Given the description of an element on the screen output the (x, y) to click on. 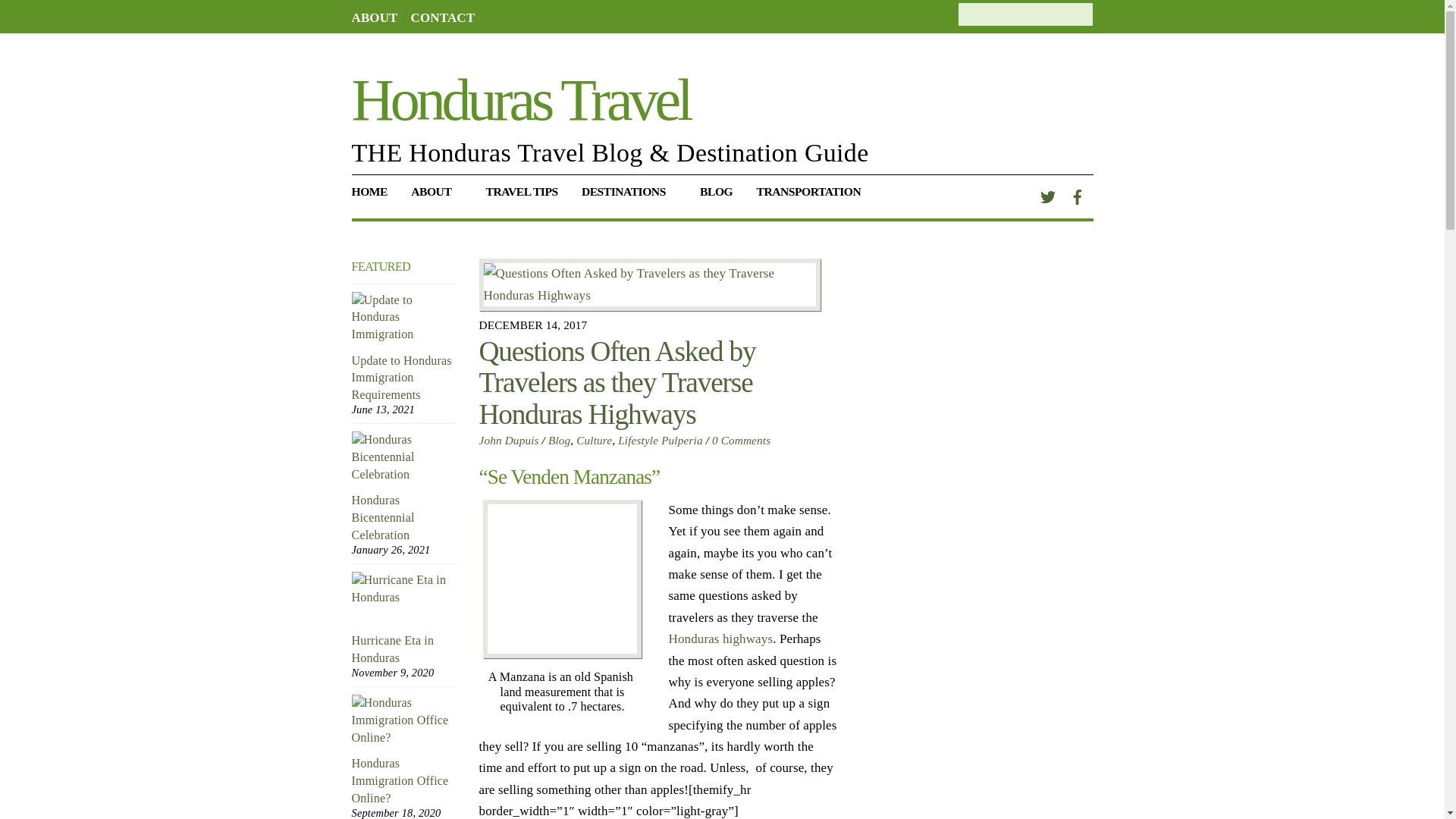
Honduras Travel (521, 99)
HOME (375, 196)
Honduras Travel (521, 99)
in the area (521, 196)
to discover (628, 196)
Update to Honduras Immigration Requirements (404, 317)
ABOUT (436, 196)
DESTINATIONS (628, 196)
CONTACT (443, 17)
